Given the description of an element on the screen output the (x, y) to click on. 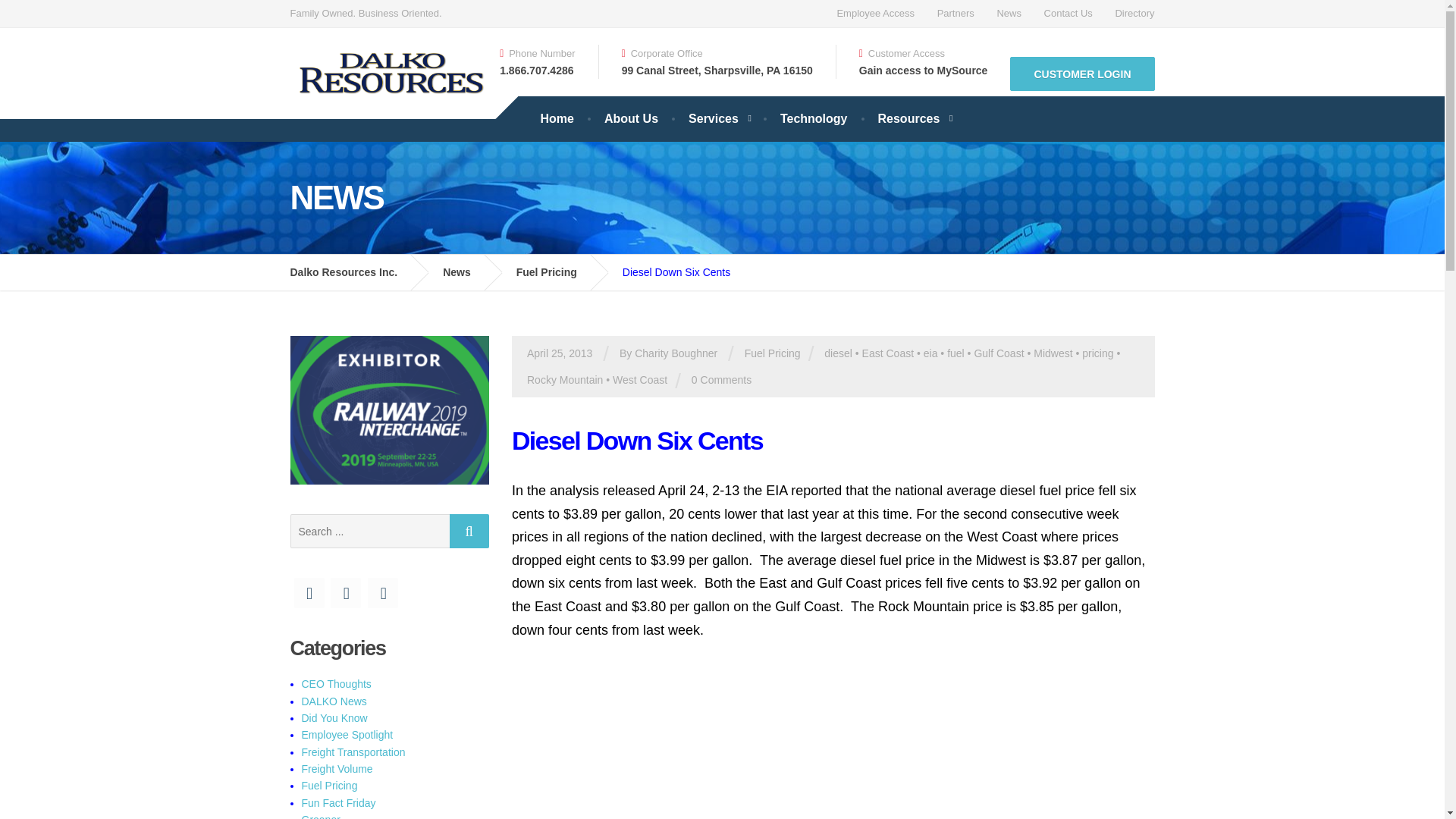
Fuel Pricing (772, 353)
Gulf Coast (998, 353)
Technology (814, 118)
Employee Access (875, 13)
News (467, 271)
Midwest (1052, 353)
eia (930, 353)
Rocky Mountain (564, 379)
pricing (1097, 353)
Go to Dalko Resources Inc.. (354, 271)
Resources (914, 118)
East Coast (887, 353)
Fuel Pricing (557, 271)
CUSTOMER LOGIN (1082, 73)
Partners (955, 13)
